Given the description of an element on the screen output the (x, y) to click on. 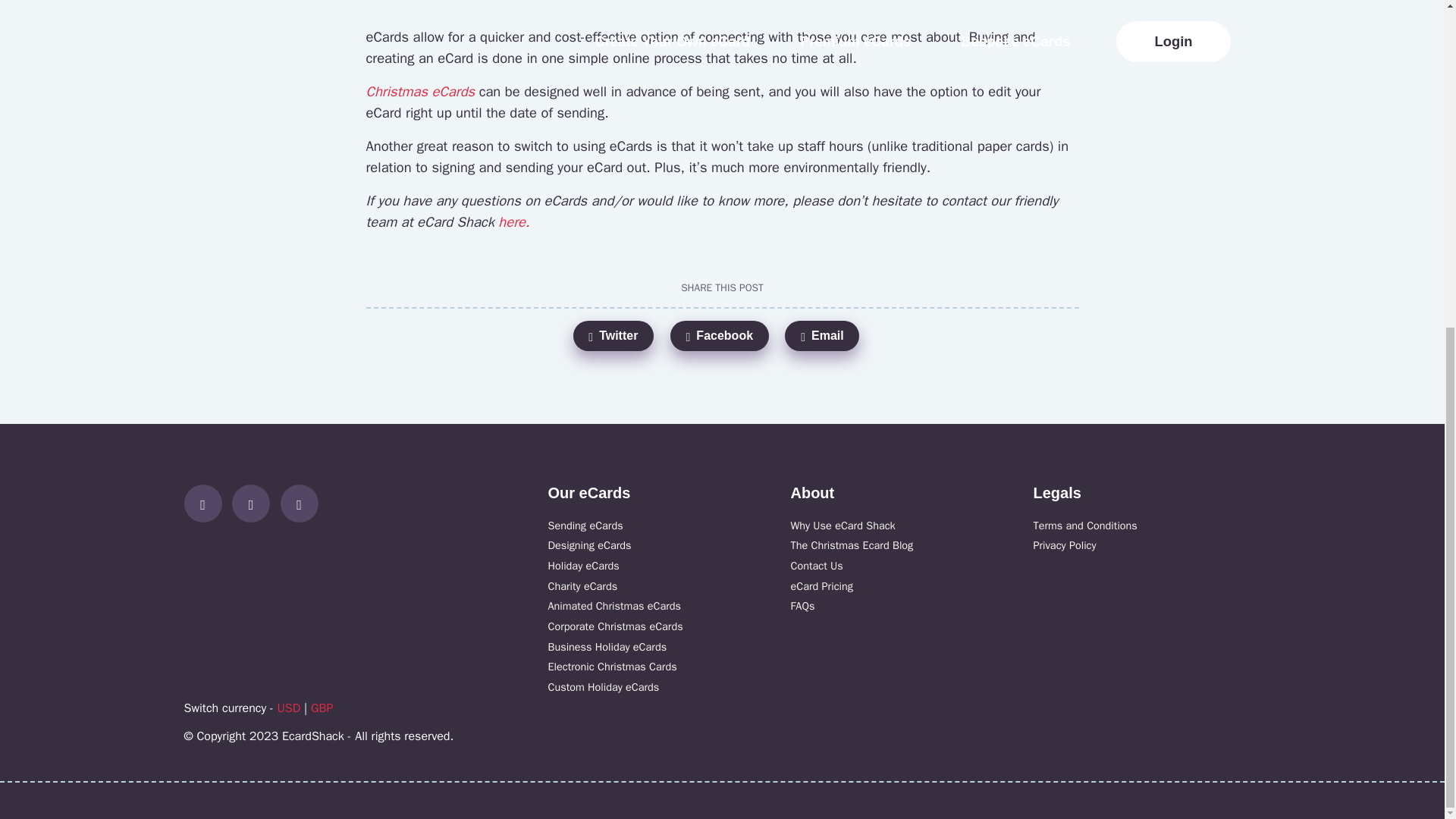
Facebook (718, 336)
FAQs (801, 605)
Sending eCards (585, 524)
Instagram (256, 502)
Corporate Christmas eCards (614, 626)
Privacy Policy (1064, 545)
The Christmas Ecard Blog (851, 545)
Business Holiday eCards (606, 646)
Holiday eCards (582, 565)
Twitter (302, 502)
